Given the description of an element on the screen output the (x, y) to click on. 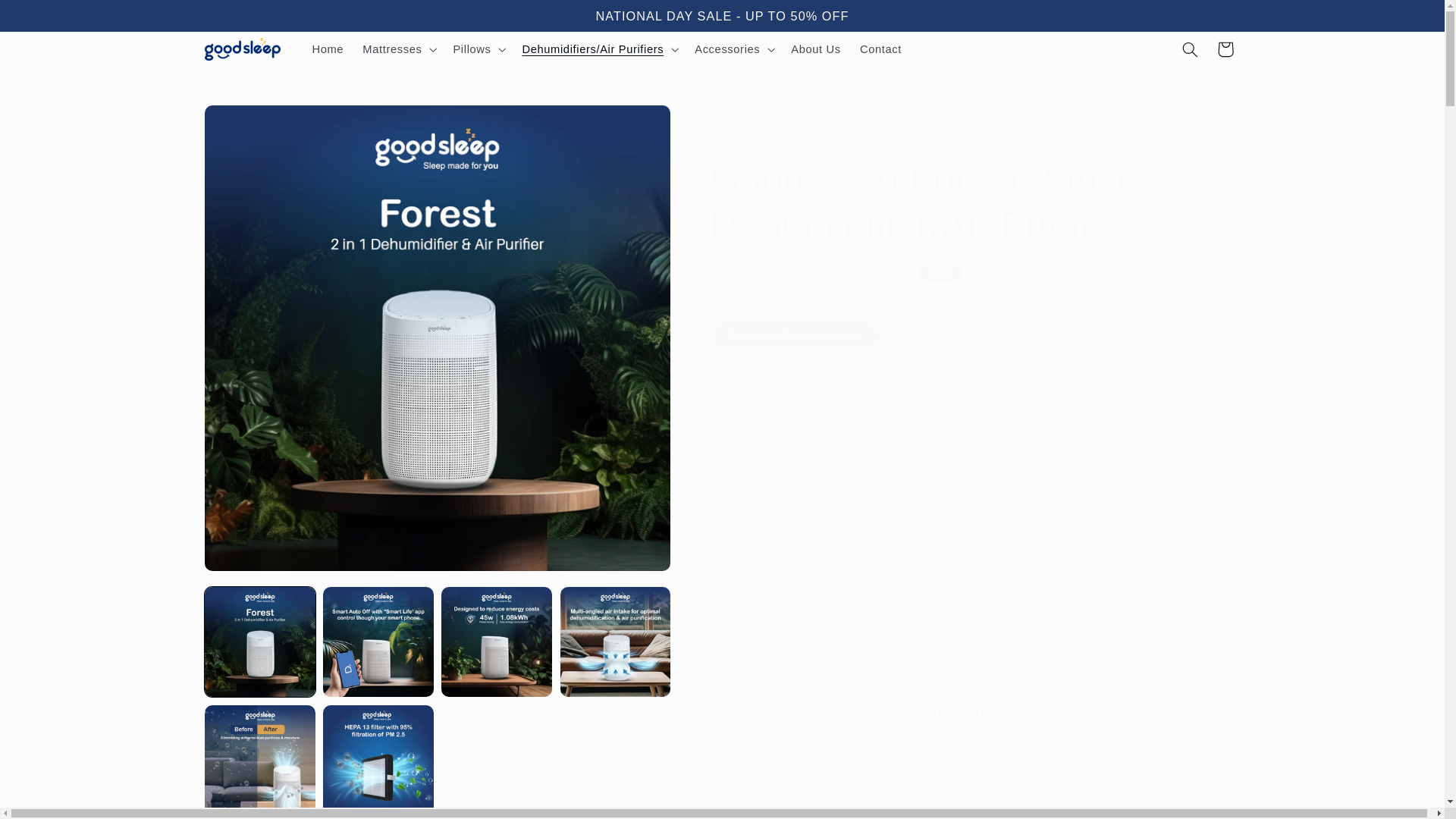
Skip to content (48, 18)
1 (764, 437)
Cart (1225, 48)
Contact (880, 49)
Home (327, 49)
About Us (815, 49)
